Given the description of an element on the screen output the (x, y) to click on. 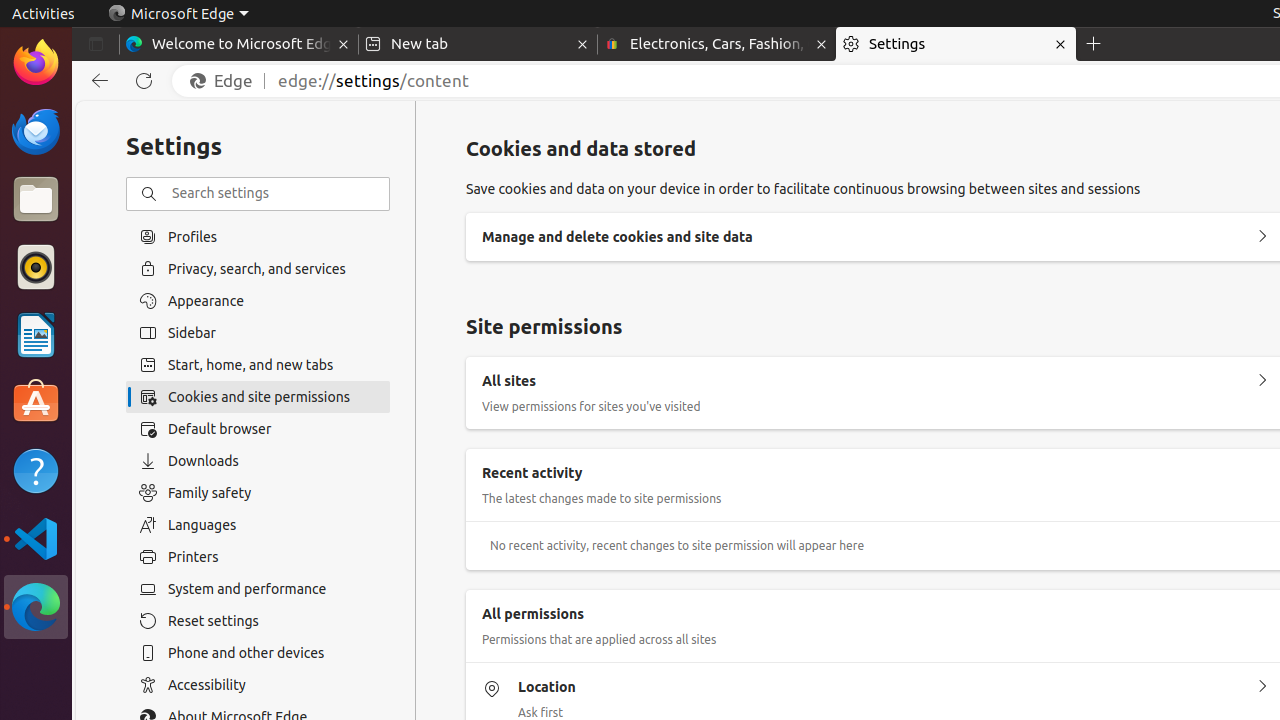
Rhythmbox Element type: push-button (36, 267)
Languages Element type: tree-item (258, 525)
Ubuntu Software Element type: push-button (36, 402)
Edge Element type: push-button (226, 81)
Close tab Element type: push-button (343, 44)
